Given the description of an element on the screen output the (x, y) to click on. 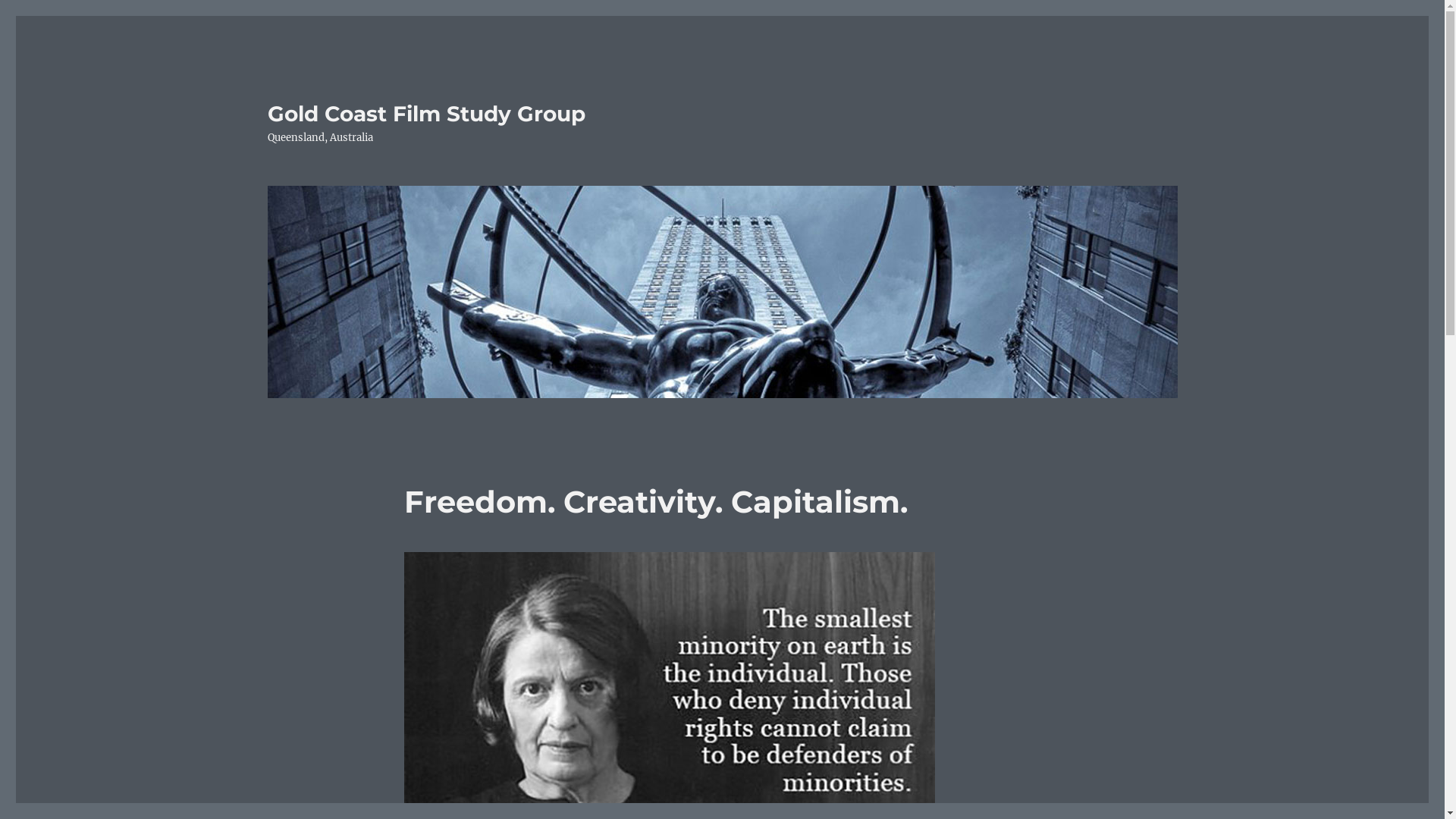
Gold Coast Film Study Group Element type: text (425, 113)
